Given the description of an element on the screen output the (x, y) to click on. 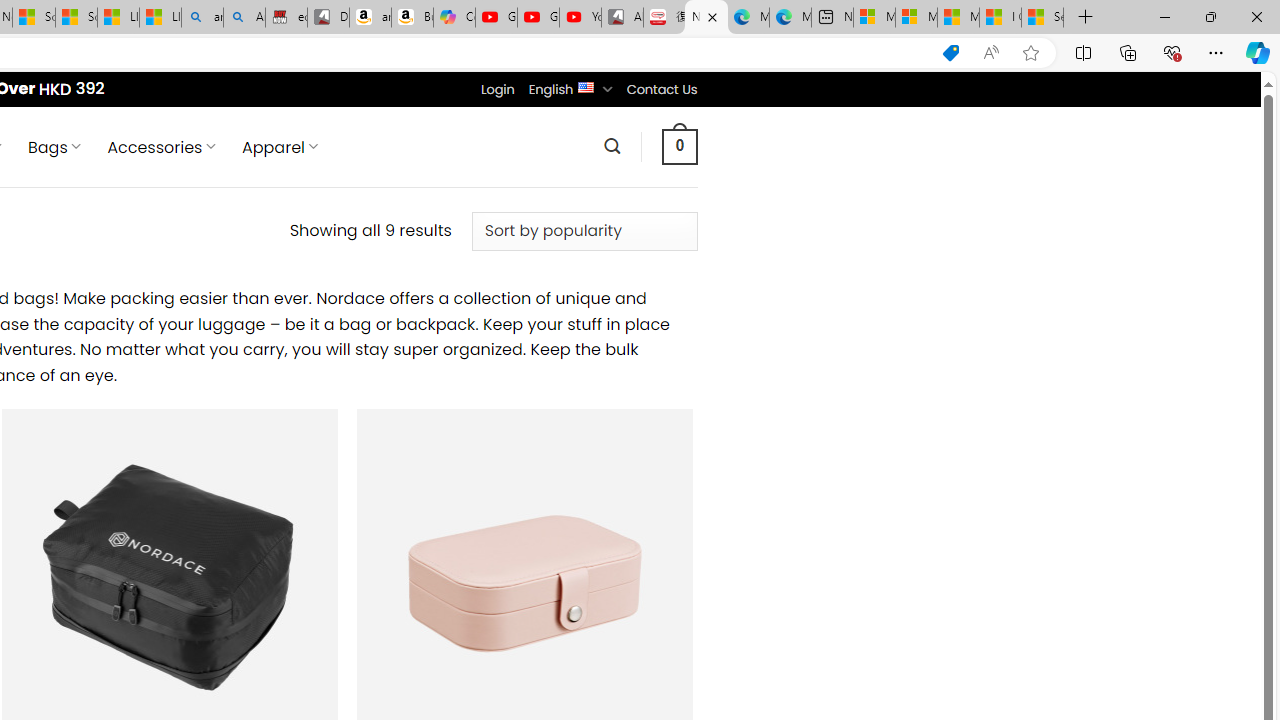
This site has coupons! Shopping in Microsoft Edge (950, 53)
amazon - Search (201, 17)
Restore (1210, 16)
